Given the description of an element on the screen output the (x, y) to click on. 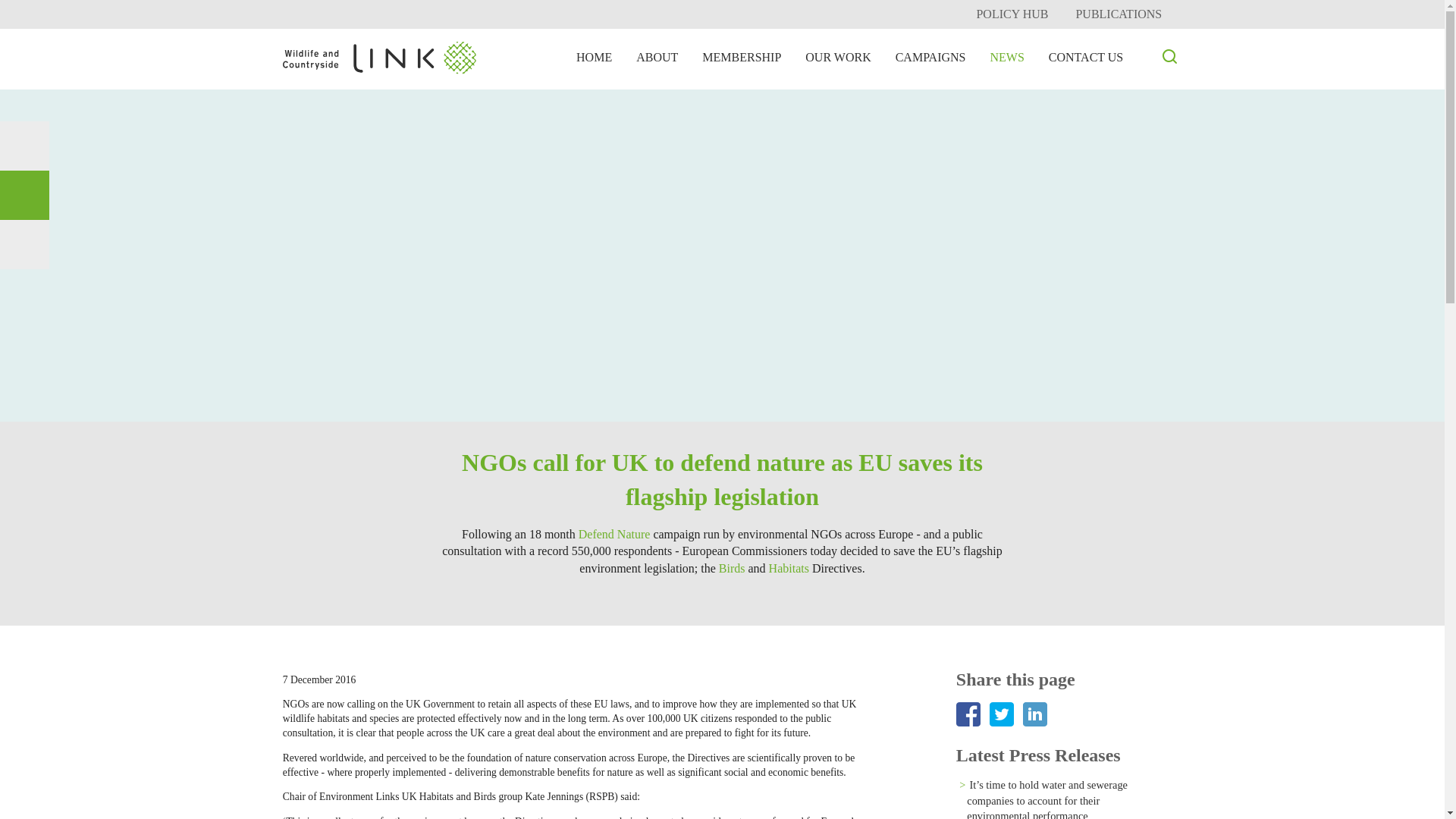
OUR WORK (837, 57)
PUBLICATIONS (1118, 13)
ABOUT (657, 57)
NEWS (1005, 57)
LinkedIn (24, 195)
CONTACT US (1085, 57)
Twitter (24, 145)
SUBMIT (1133, 142)
CAMPAIGNS (930, 57)
HOME (594, 57)
MEMBERSHIP (741, 57)
POLICY HUB (1011, 13)
